Given the description of an element on the screen output the (x, y) to click on. 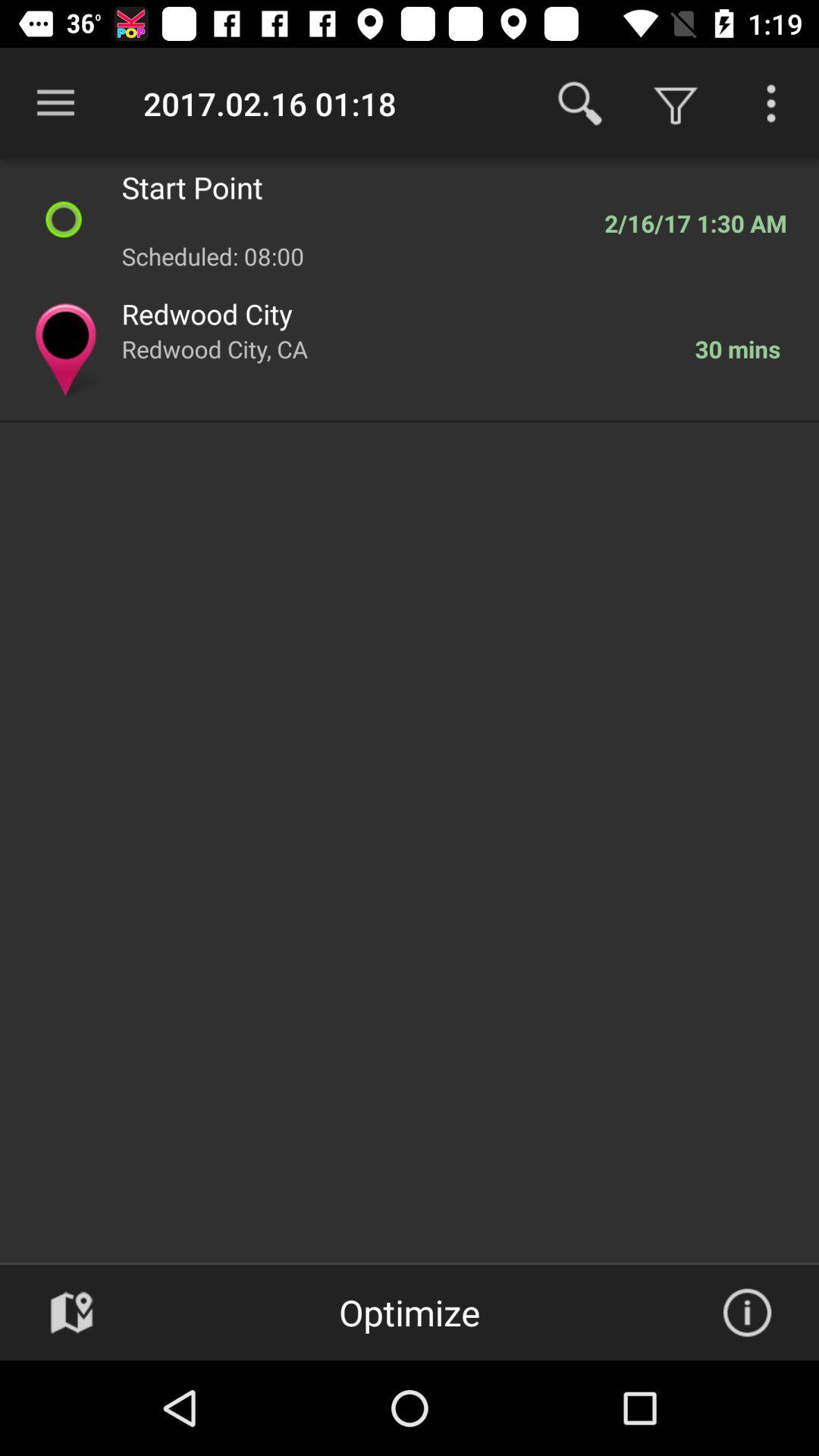
location (71, 1312)
